Given the description of an element on the screen output the (x, y) to click on. 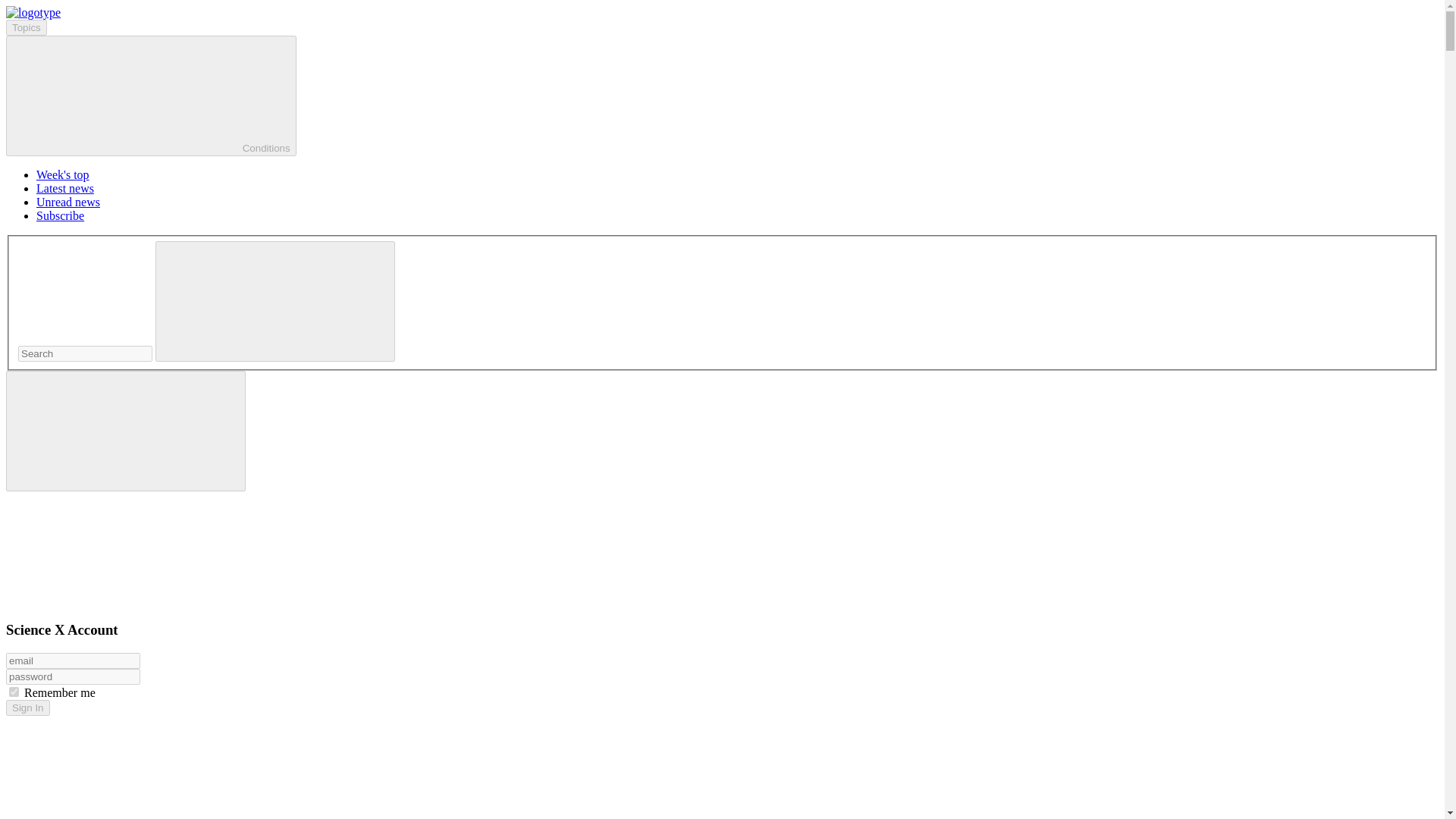
Sign In (27, 707)
Subscribe (60, 215)
Topics (25, 27)
Latest news (65, 187)
on (13, 691)
Conditions (151, 96)
Week's top (62, 174)
Unread news (68, 201)
